Given the description of an element on the screen output the (x, y) to click on. 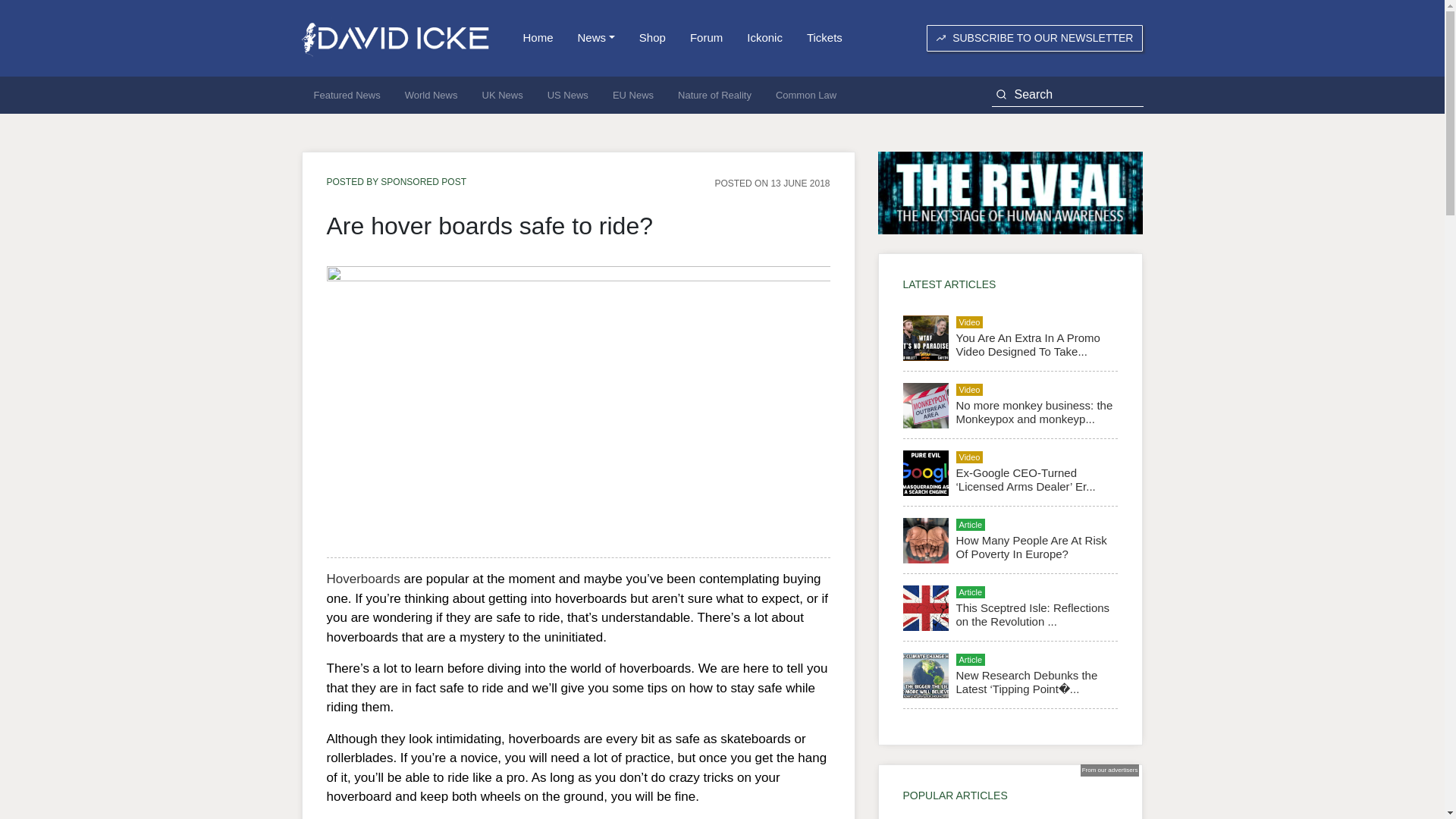
News (596, 37)
You Are An Extra In A Promo Video Designed To Take... (1027, 344)
Forum (706, 37)
Nature of Reality (713, 94)
US News (567, 94)
Common Law (805, 94)
UK News (502, 94)
Ickonic (764, 37)
World News (431, 94)
EU News (632, 94)
